Given the description of an element on the screen output the (x, y) to click on. 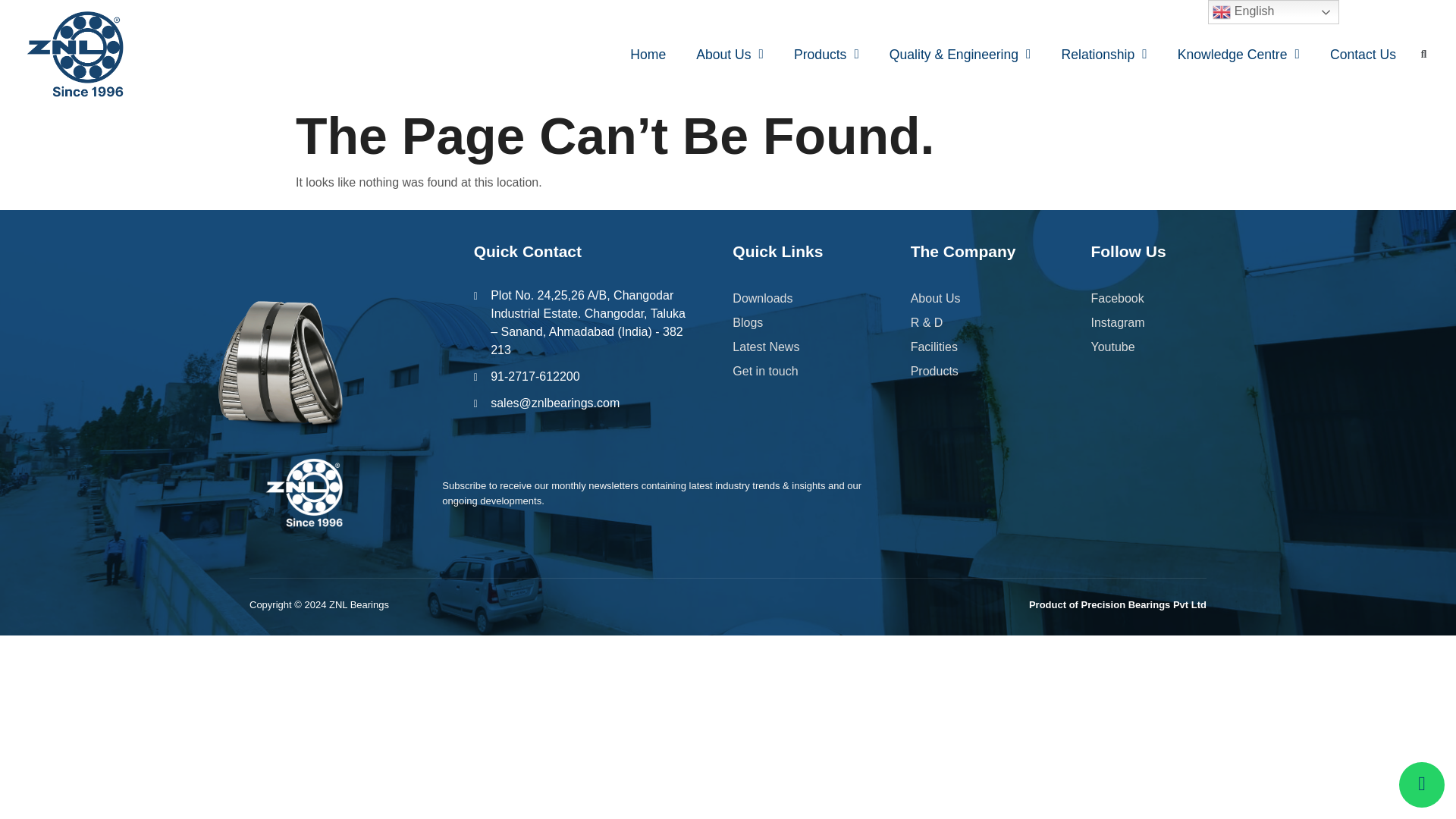
Home (647, 54)
Products (826, 54)
Relationship (1103, 54)
About Us (729, 54)
